Given the description of an element on the screen output the (x, y) to click on. 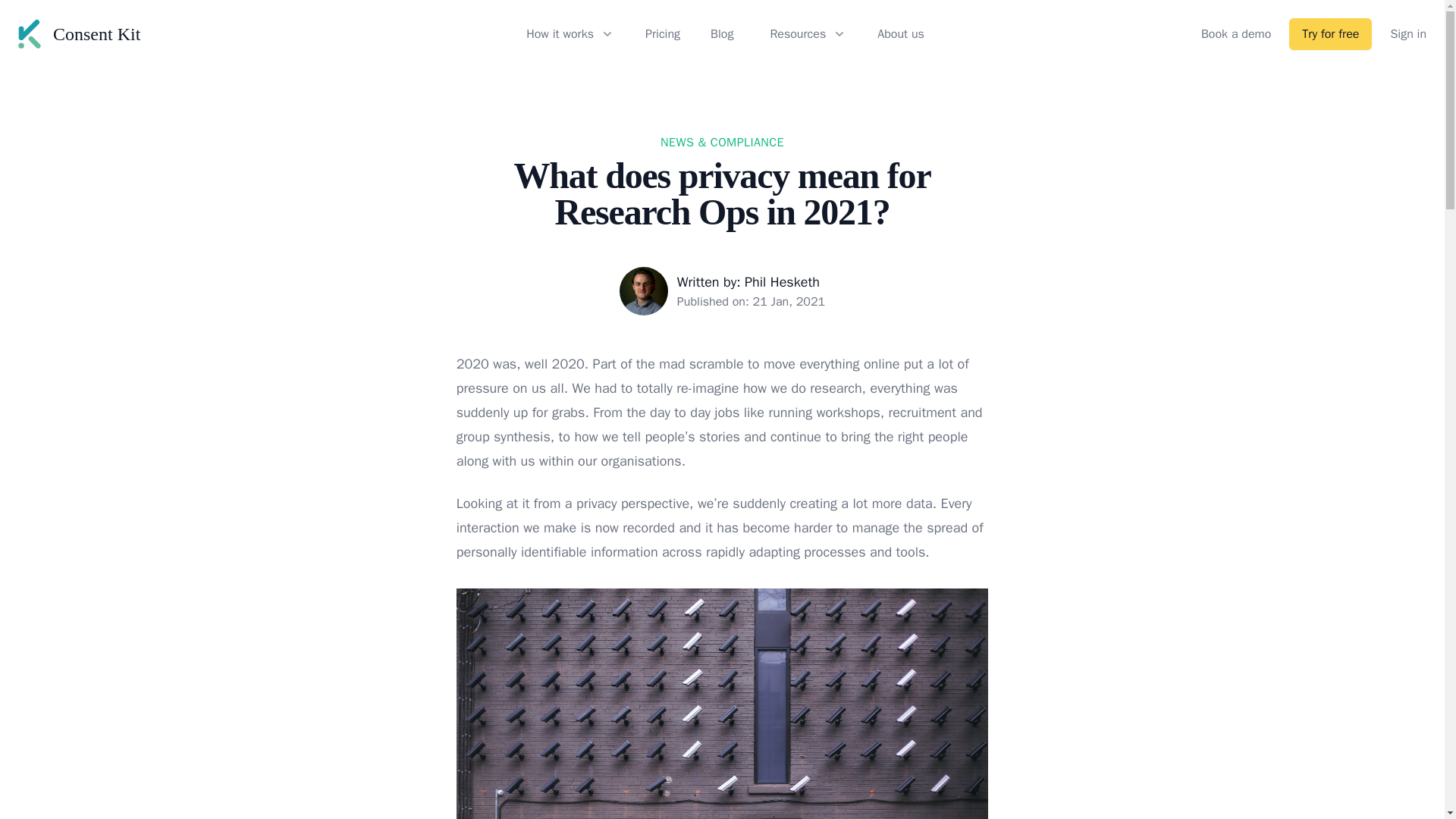
Consent Kit (78, 33)
Sign in (1408, 34)
Pricing (662, 34)
About us (900, 34)
Book a demo (1236, 34)
Blog (721, 34)
Try for free (1329, 33)
Resources (804, 34)
How it works (566, 34)
